Given the description of an element on the screen output the (x, y) to click on. 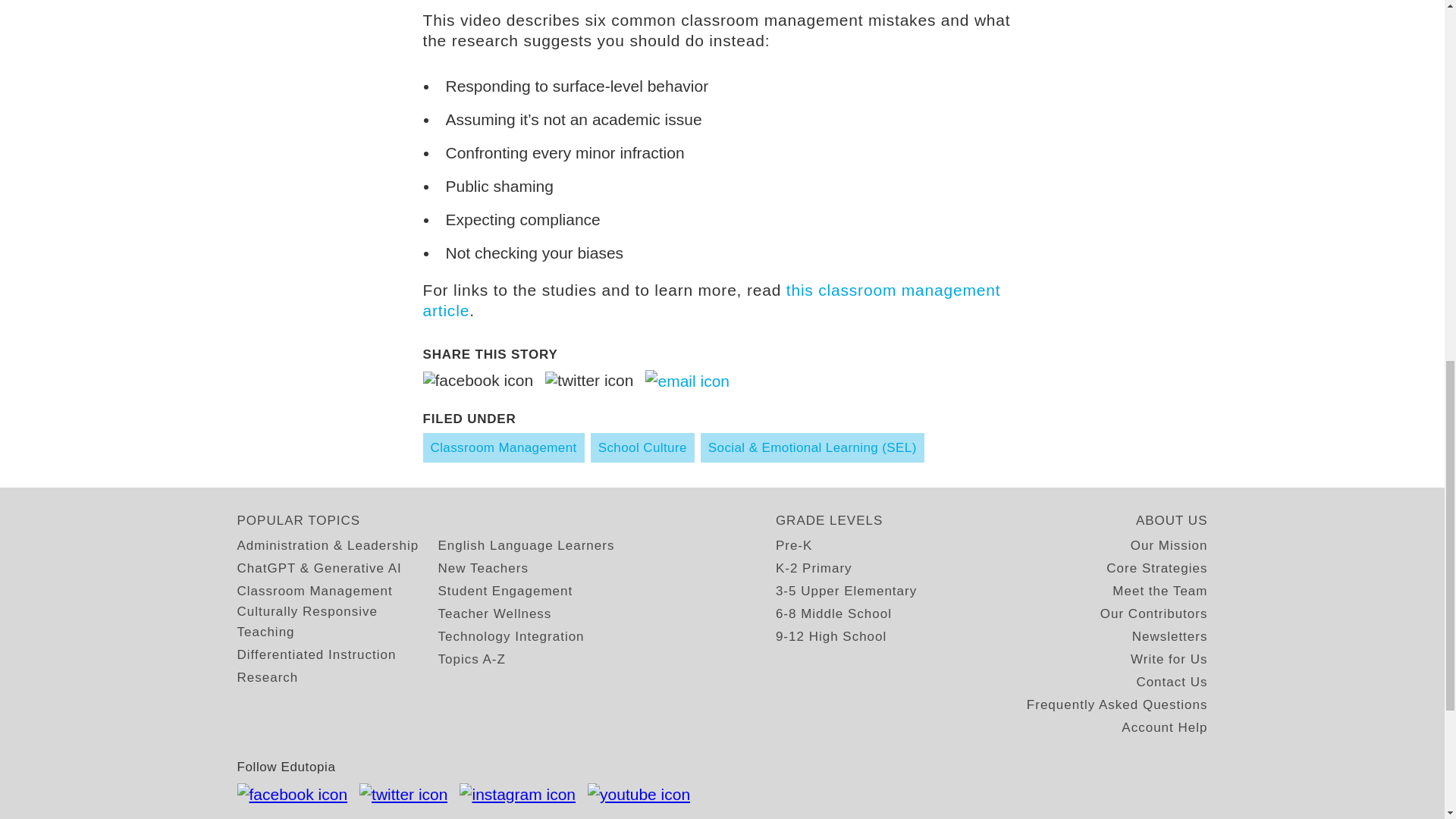
6-8 Middle School (833, 613)
Classroom Management (504, 447)
Topics A-Z (471, 659)
English Language Learners (526, 545)
Culturally Responsive Teaching (336, 621)
this classroom management article (712, 300)
Technology Integration (511, 636)
New Teachers (483, 567)
K-2 Primary (813, 567)
Teacher Wellness (494, 613)
School Culture (642, 447)
Pre-K (794, 545)
Differentiated Instruction (315, 654)
Research (266, 677)
Student Engagement (505, 590)
